Given the description of an element on the screen output the (x, y) to click on. 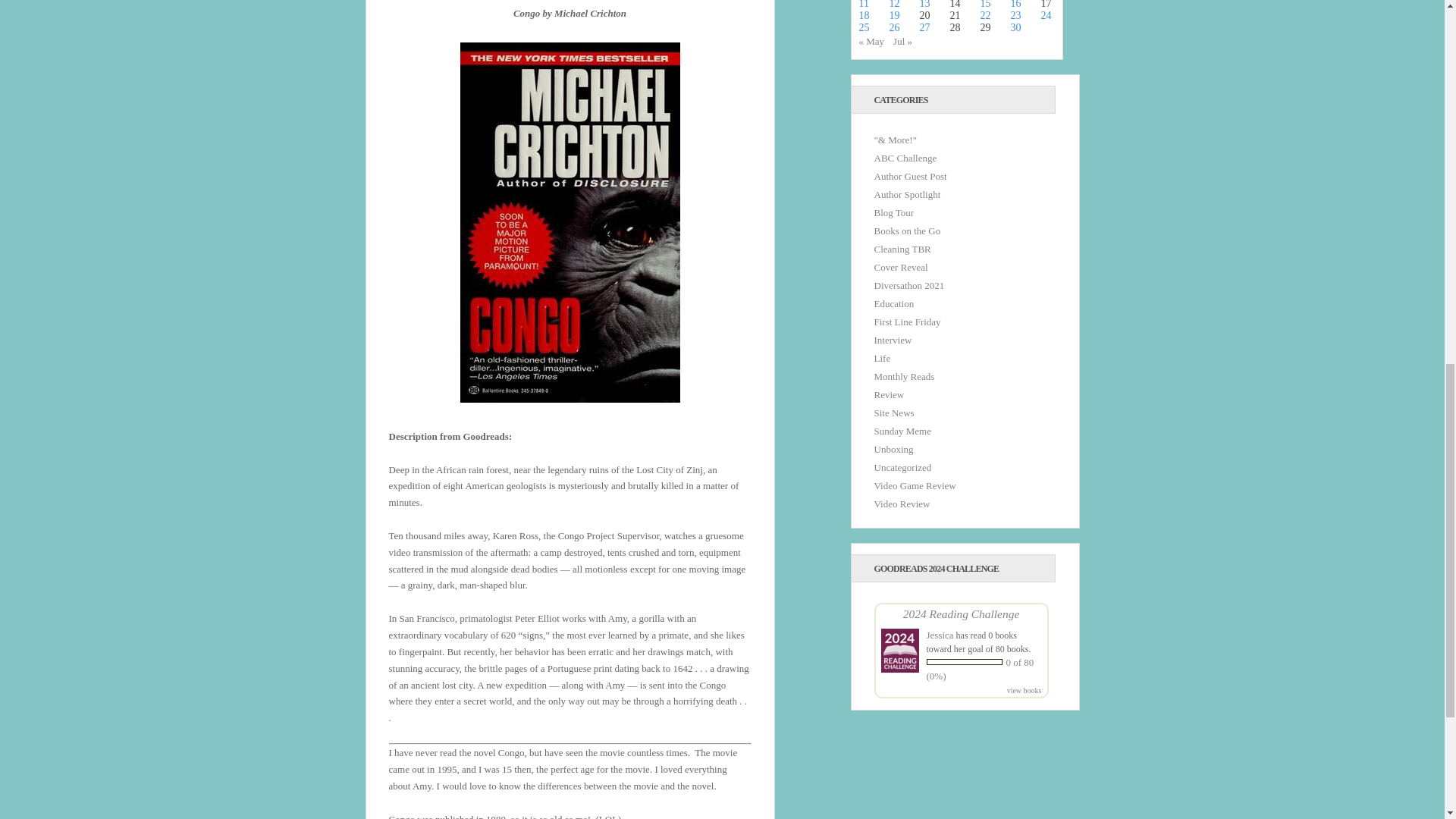
19 (893, 15)
25 (864, 27)
11 (863, 4)
27 (924, 27)
15 (984, 4)
18 (864, 15)
16 (1015, 4)
26 (893, 27)
22 (984, 15)
24 (1046, 15)
